Given the description of an element on the screen output the (x, y) to click on. 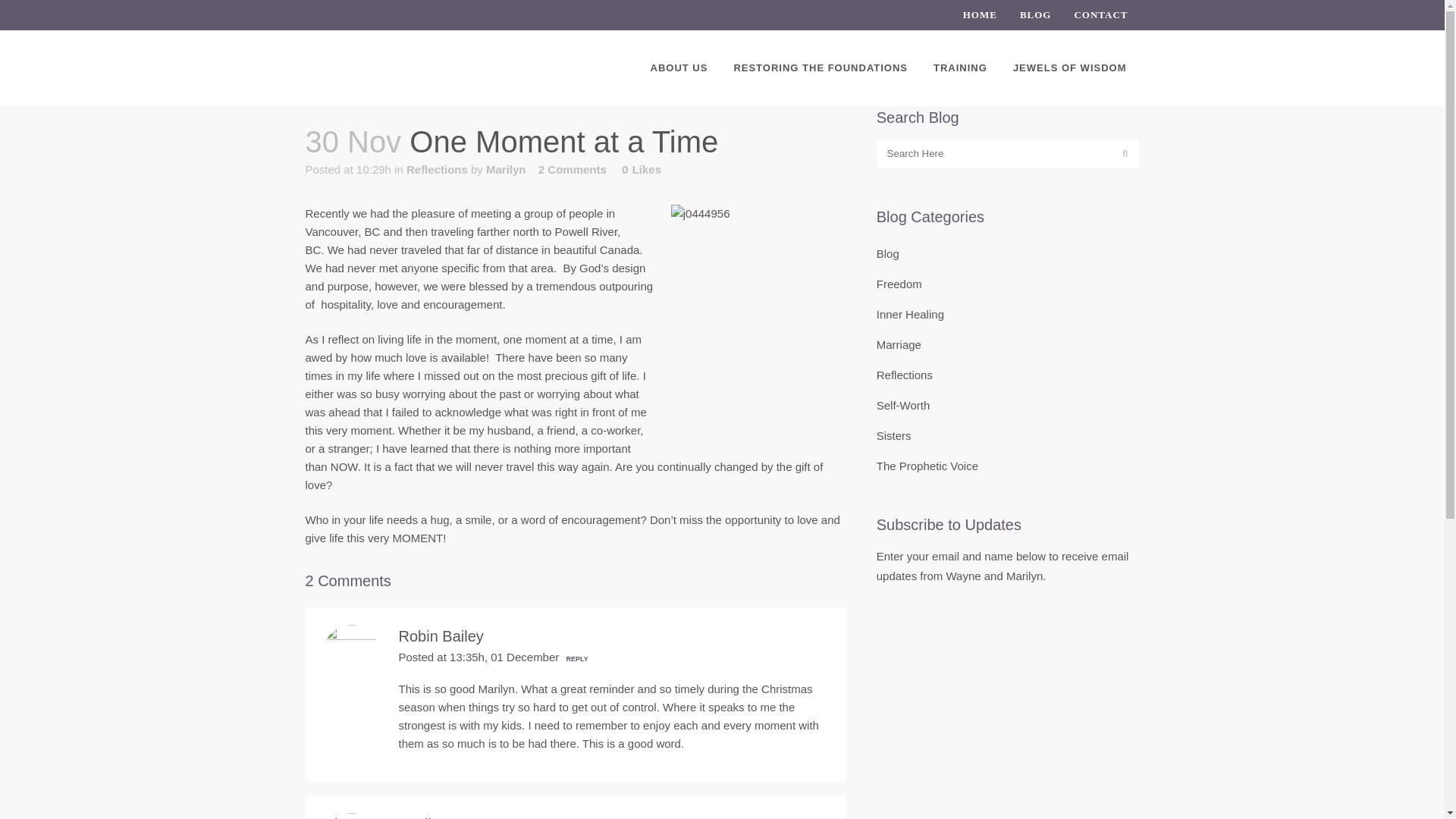
Freedom (898, 283)
HOME (974, 15)
Marilyn (505, 169)
JEWELS OF WISDOM (1070, 68)
RESTORING THE FOUNDATIONS (820, 68)
Reflections (904, 374)
Marriage (898, 344)
Reflections (436, 169)
2 Comments (572, 169)
ABOUT US (678, 68)
Blog (887, 253)
Sisters (893, 435)
Self-Worth (903, 404)
0 Likes (641, 169)
BLOG (1030, 15)
